Given the description of an element on the screen output the (x, y) to click on. 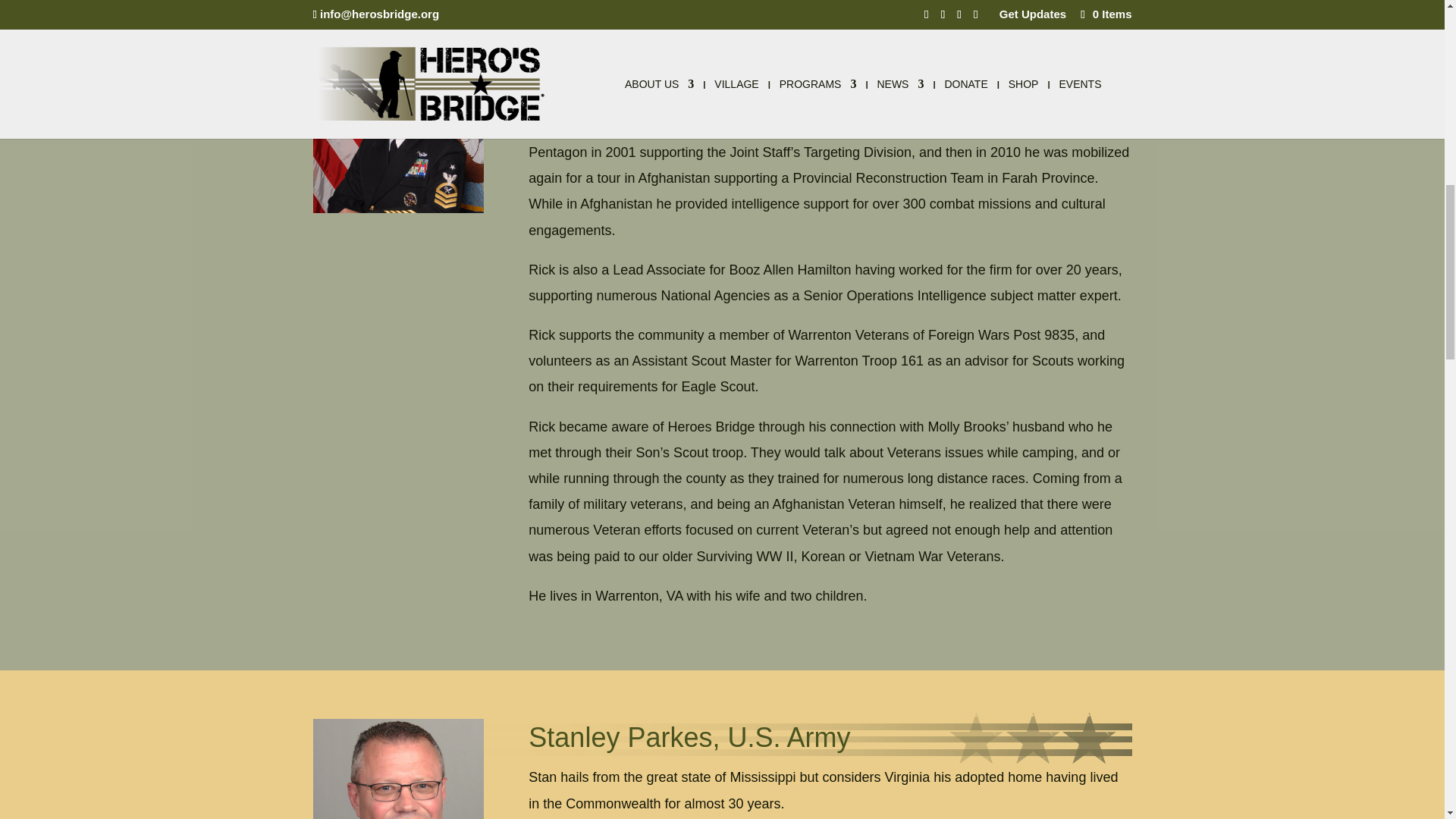
Stan's-Photo (398, 769)
